Given the description of an element on the screen output the (x, y) to click on. 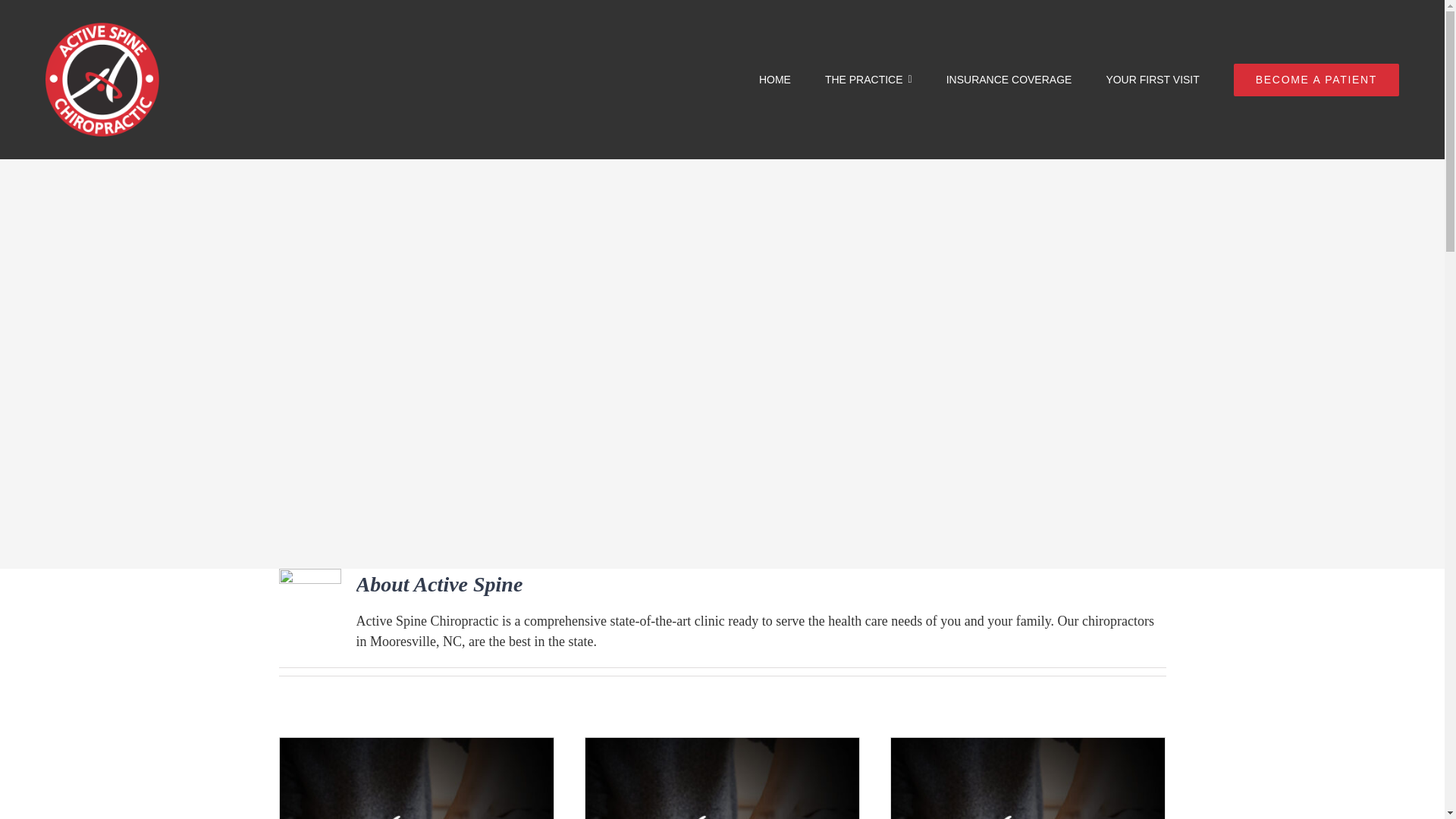
INSURANCE COVERAGE (1008, 79)
BECOME A PATIENT (1316, 79)
YOUR FIRST VISIT (1151, 79)
THE PRACTICE (868, 79)
